Given the description of an element on the screen output the (x, y) to click on. 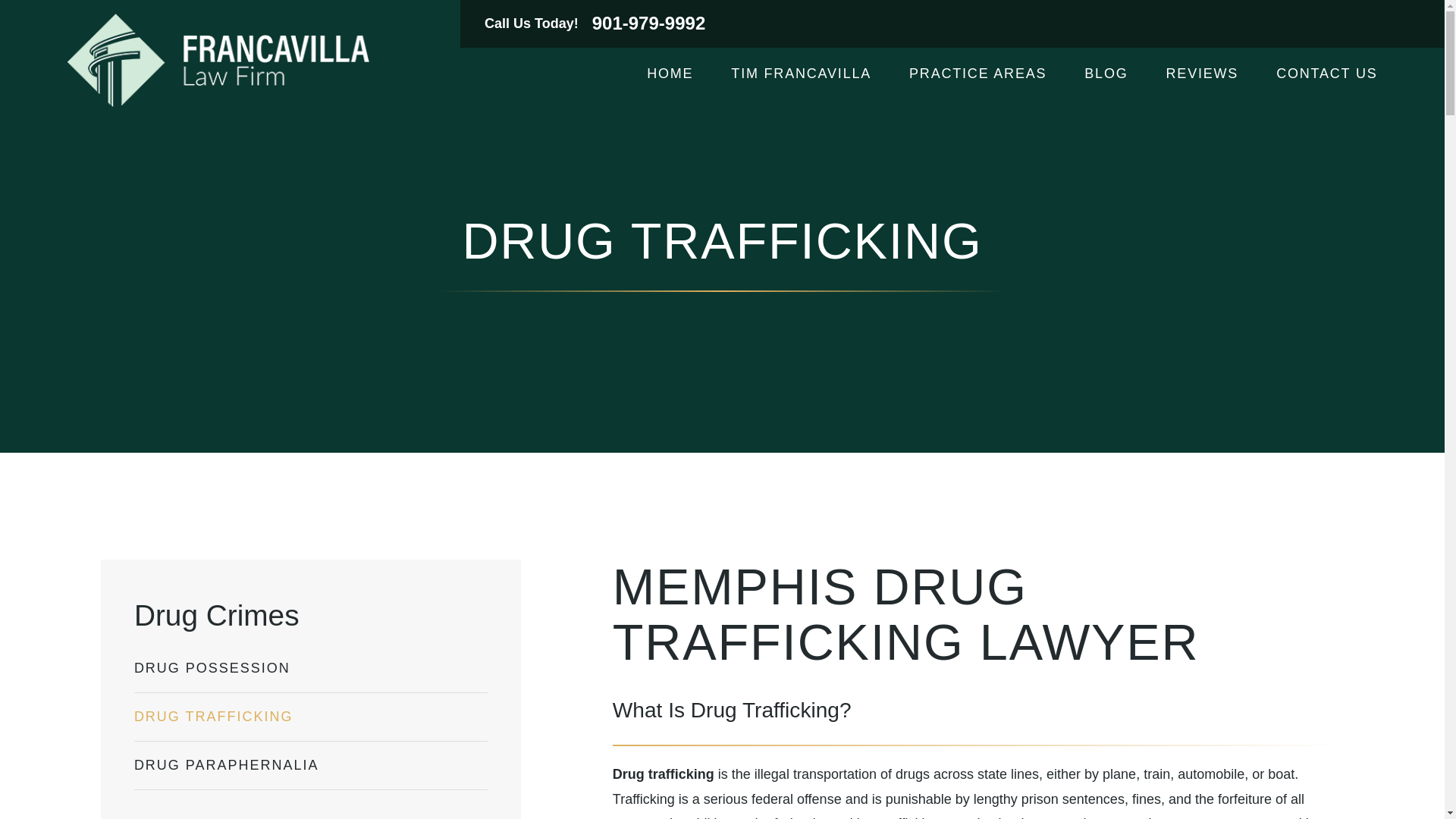
TIM FRANCAVILLA (800, 73)
Home (217, 60)
901-979-9992 (649, 23)
HOME (669, 73)
BLOG (1105, 73)
CONTACT US (1326, 73)
REVIEWS (1202, 73)
PRACTICE AREAS (977, 73)
